Given the description of an element on the screen output the (x, y) to click on. 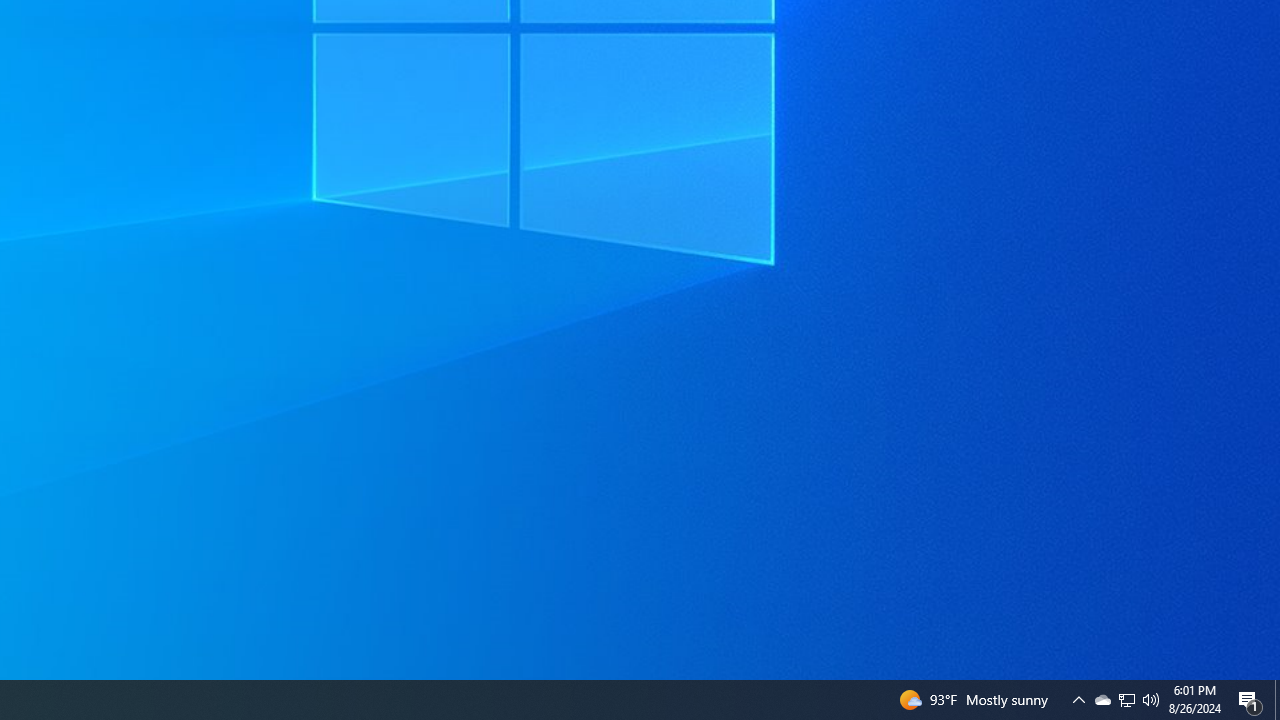
Action Center, 1 new notification (1250, 699)
Show desktop (1277, 699)
Q2790: 100% (1102, 699)
User Promoted Notification Area (1151, 699)
Notification Chevron (1126, 699)
